Given the description of an element on the screen output the (x, y) to click on. 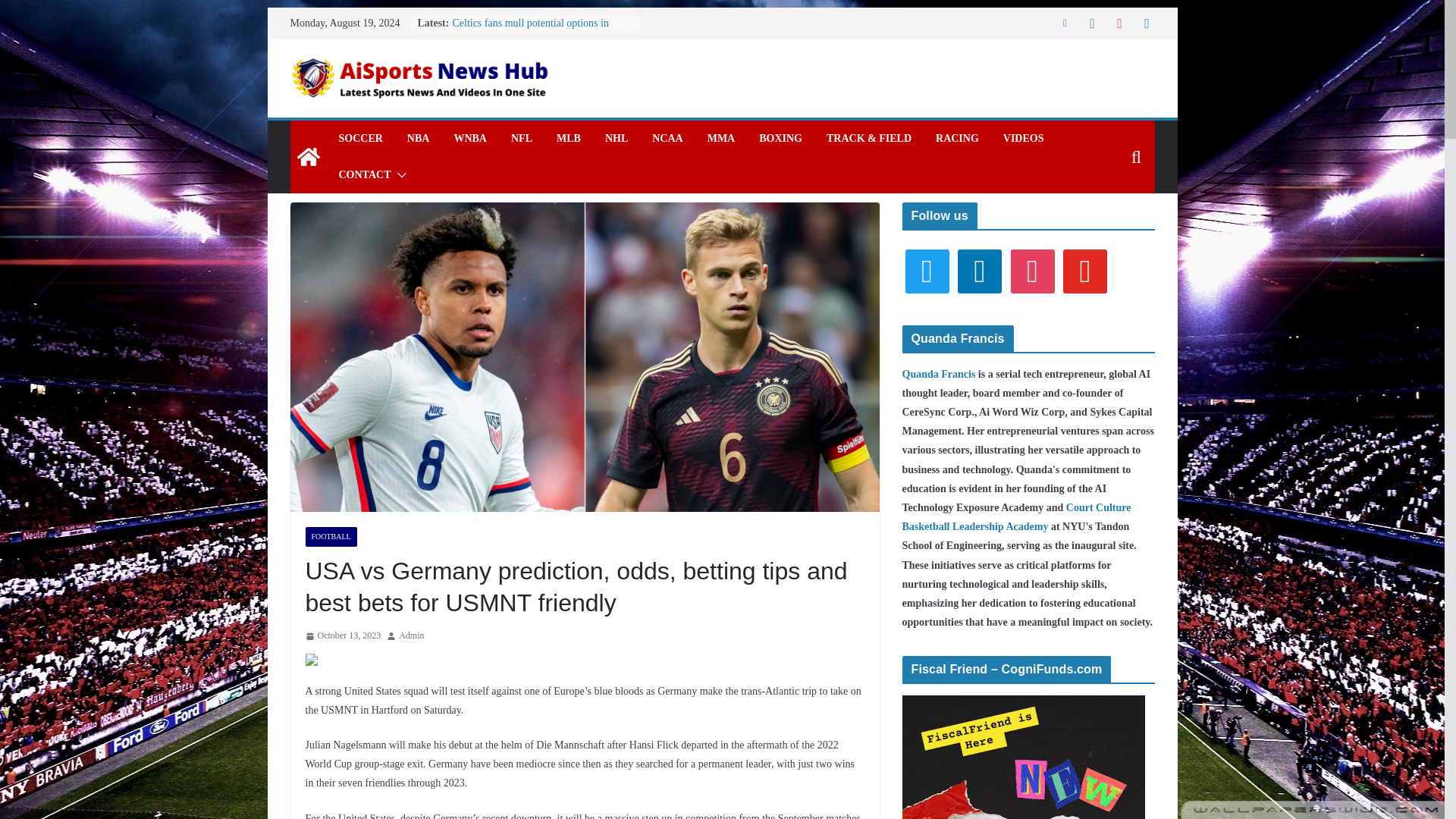
RACING (957, 138)
WNBA (469, 138)
BOXING (780, 138)
FOOTBALL (330, 537)
NHL (616, 138)
11:07 pm (342, 636)
AiSports News Hub (307, 156)
Admin (410, 636)
Admin (410, 636)
VIDEOS (1023, 138)
